Given the description of an element on the screen output the (x, y) to click on. 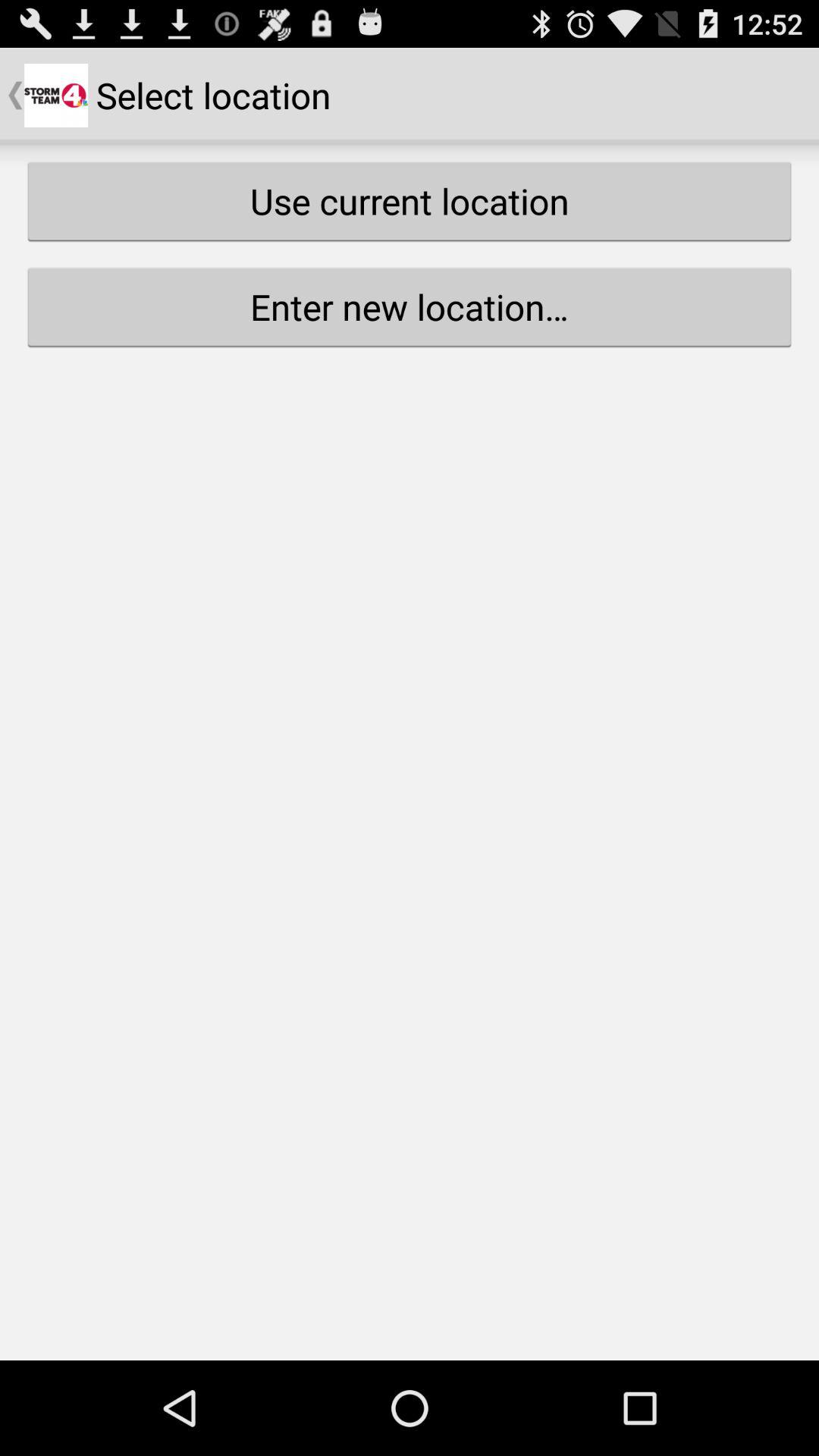
tap use current location item (409, 201)
